Given the description of an element on the screen output the (x, y) to click on. 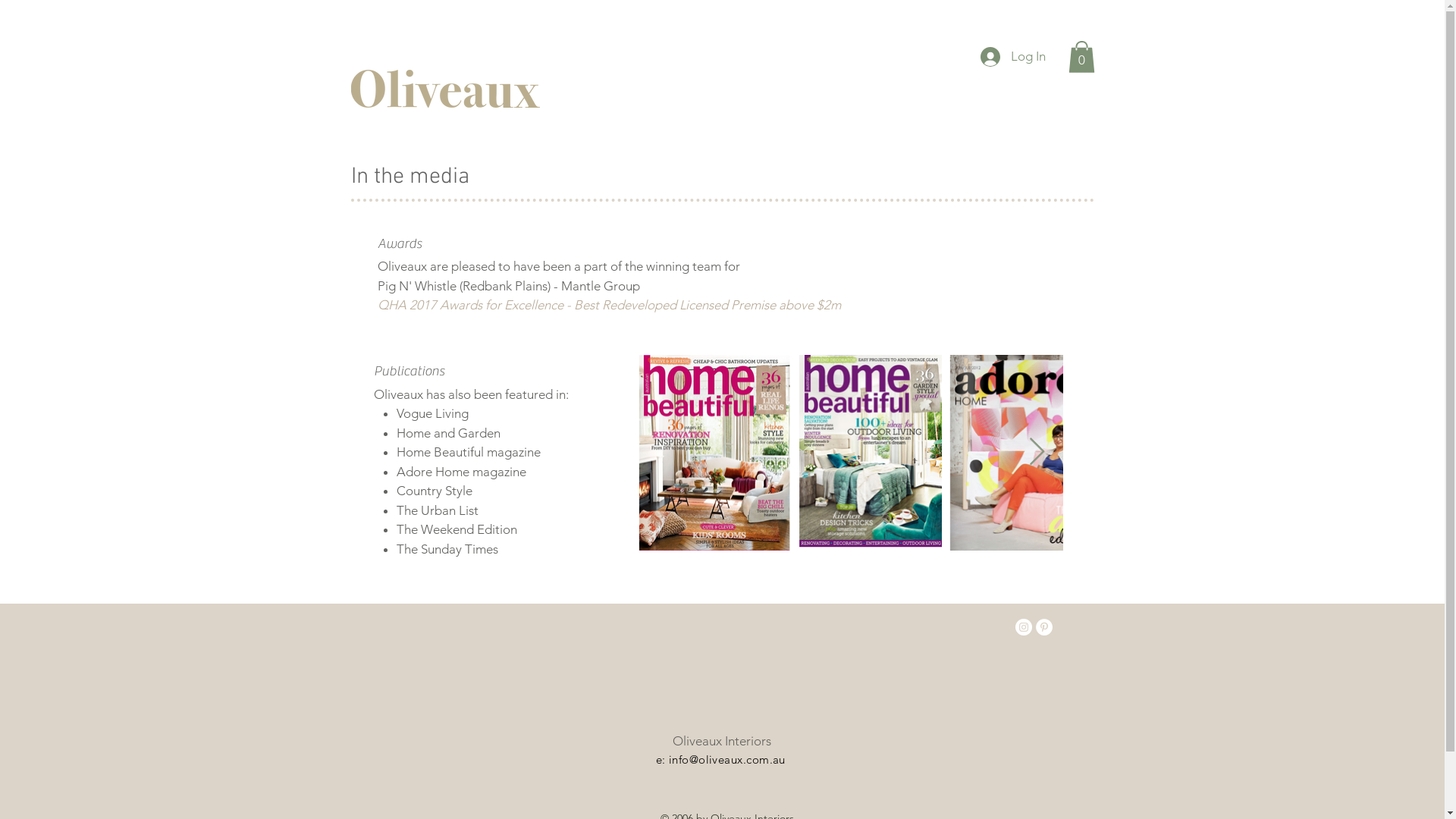
0 Element type: text (1080, 56)
Log In Element type: text (1012, 56)
info@oliveaux.com.au Element type: text (726, 759)
  Element type: text (841, 304)
